Given the description of an element on the screen output the (x, y) to click on. 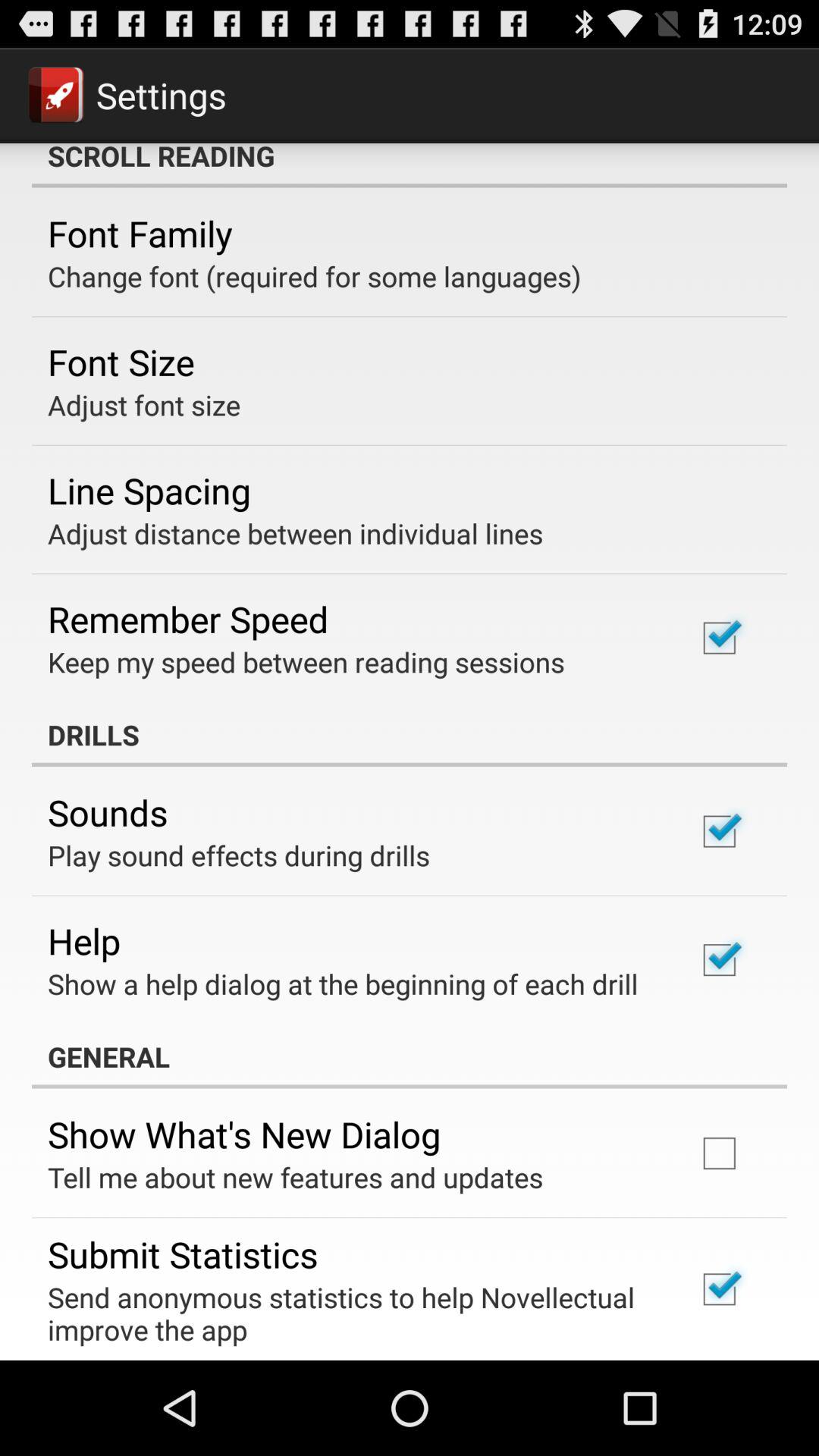
click the show what s (243, 1134)
